Given the description of an element on the screen output the (x, y) to click on. 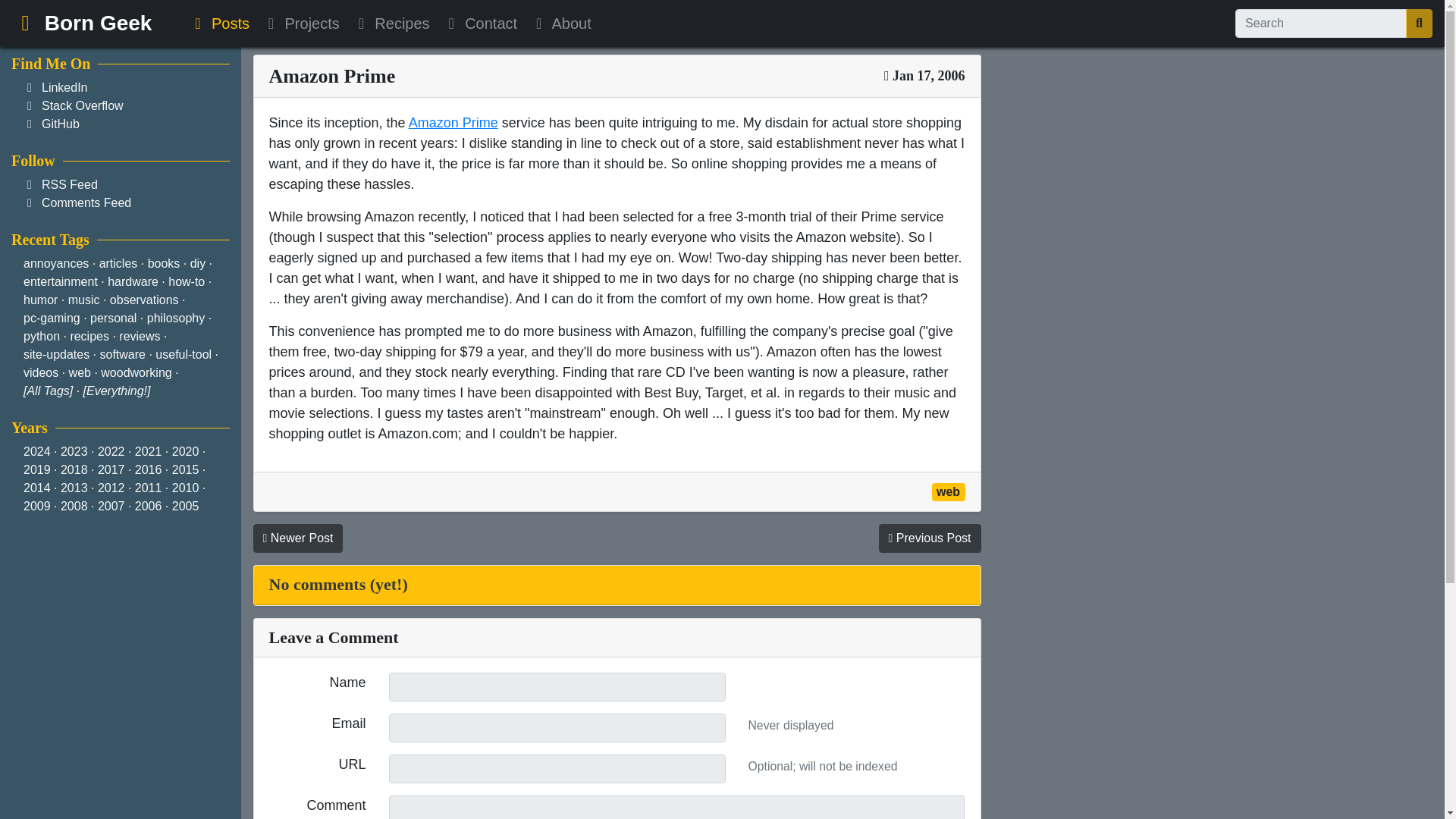
reviews (139, 336)
Born Geek (81, 23)
articles (118, 263)
how-to (186, 281)
LinkedIn (64, 87)
Recipes (390, 22)
hardware (132, 281)
About (559, 22)
useful-tool (183, 354)
Projects (301, 22)
site-updates (55, 354)
RSS Feed (69, 184)
Previous Post (928, 538)
personal (113, 318)
observations (144, 299)
